Given the description of an element on the screen output the (x, y) to click on. 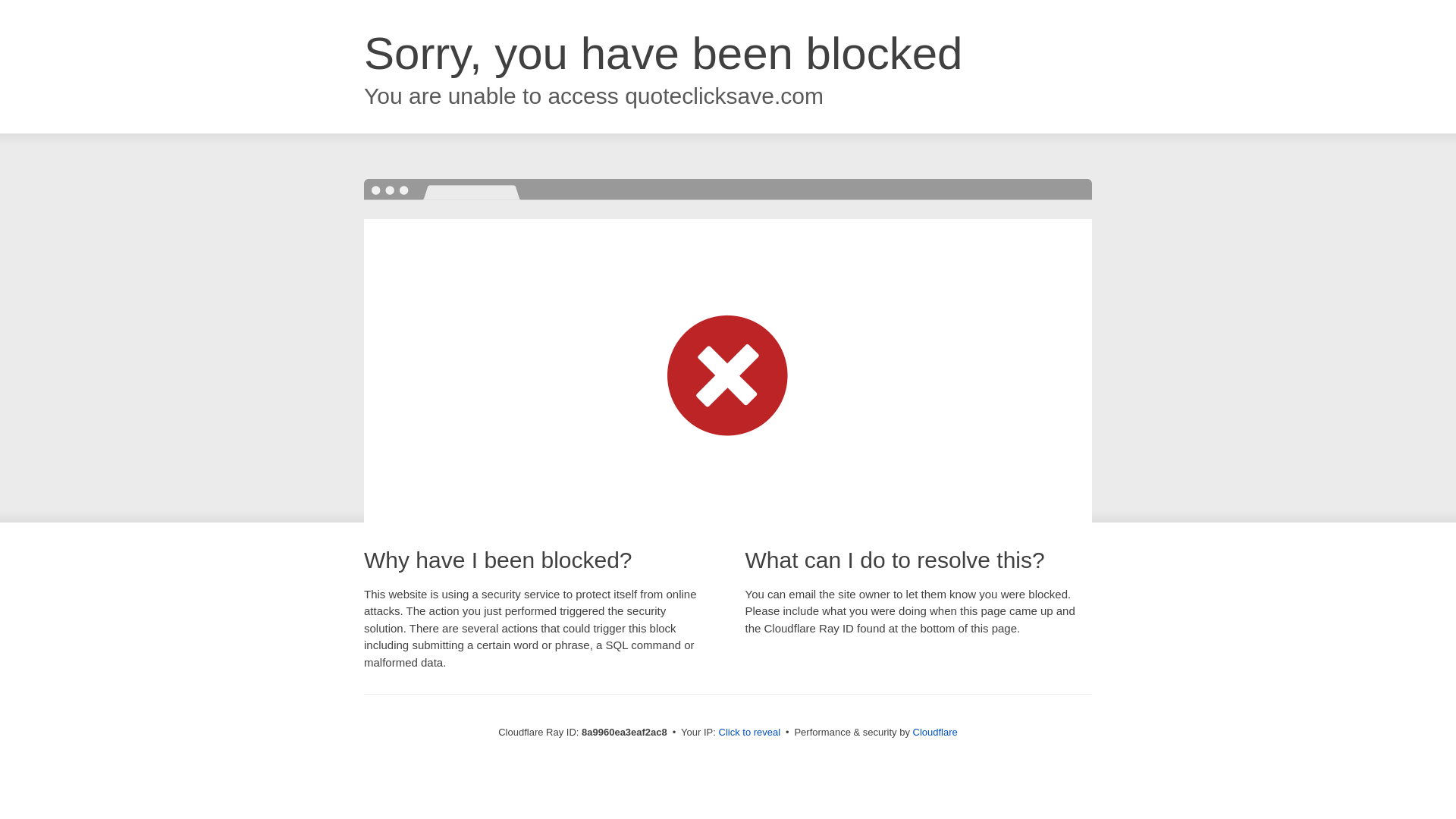
Cloudflare (935, 731)
Click to reveal (749, 732)
